Given the description of an element on the screen output the (x, y) to click on. 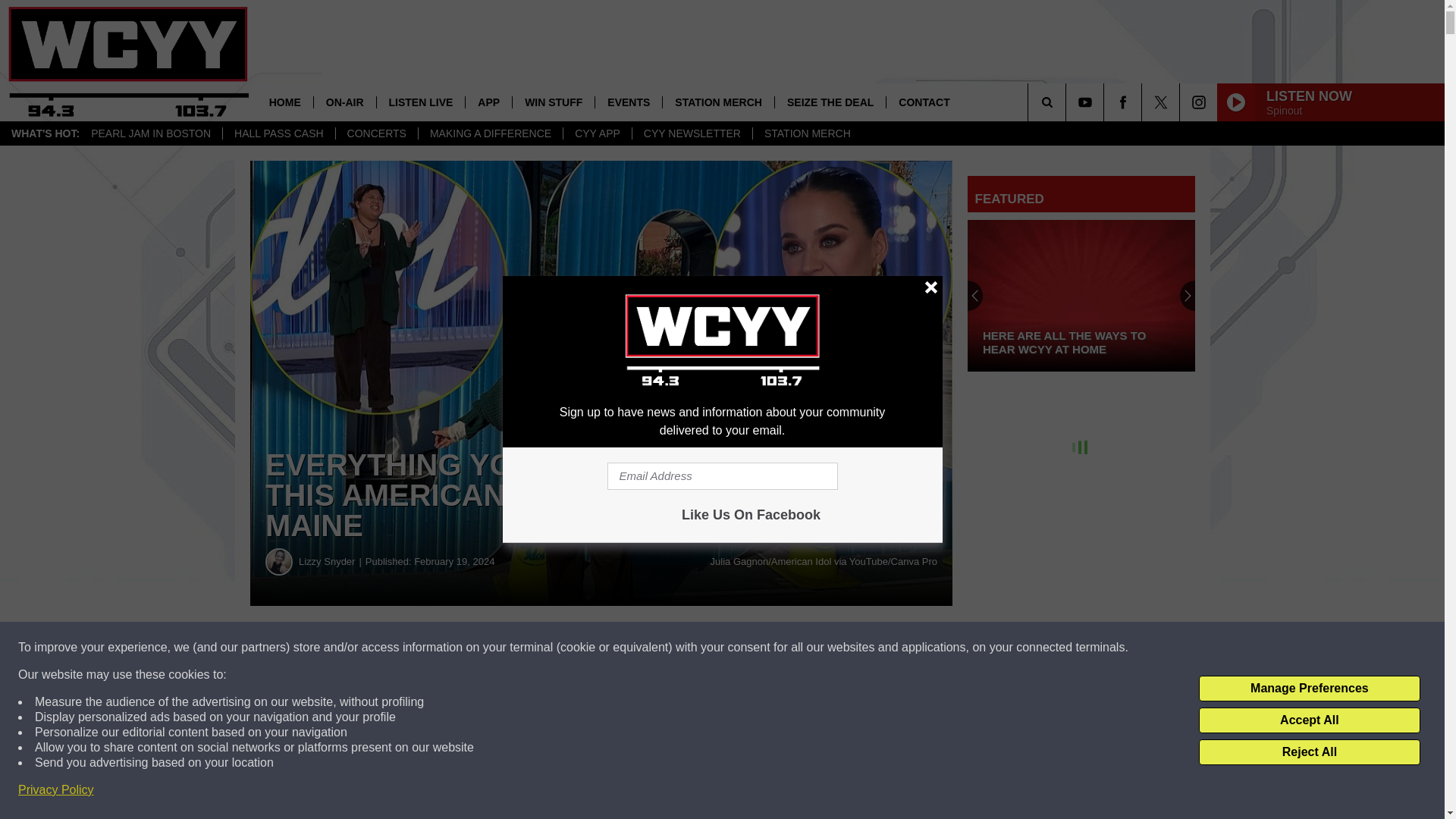
MAKING A DIFFERENCE (489, 133)
Share on Twitter (741, 647)
CYY APP (596, 133)
Manage Preferences (1309, 688)
CYY NEWSLETTER (691, 133)
HOME (285, 102)
HALL PASS CASH (278, 133)
SEARCH (1068, 102)
Accept All (1309, 720)
APP (488, 102)
EVENTS (628, 102)
Reject All (1309, 751)
STATION MERCH (718, 102)
Email Address (722, 475)
ON-AIR (344, 102)
